Given the description of an element on the screen output the (x, y) to click on. 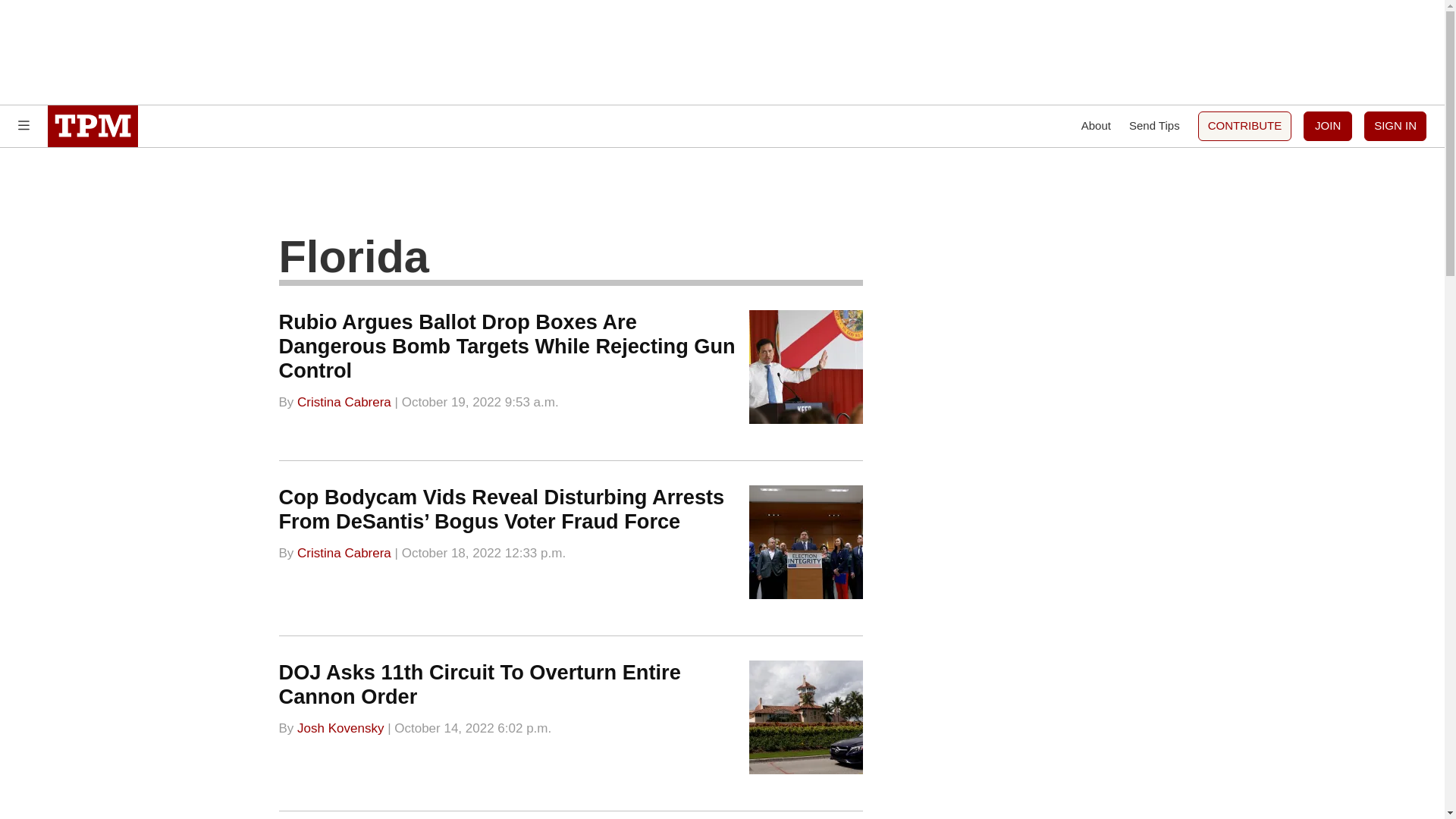
3rd party ad content (1062, 371)
Posts by Josh Kovensky (340, 727)
Cristina Cabrera (344, 553)
Posts by Cristina Cabrera (344, 553)
SIGN IN (1395, 125)
Cristina Cabrera (344, 400)
3rd party ad content (721, 52)
JOIN (1327, 125)
CONTRIBUTE (1245, 125)
DOJ Asks 11th Circuit To Overturn Entire Cannon Order (480, 683)
Send Tips (1154, 125)
Posts by Cristina Cabrera (344, 400)
Josh Kovensky (340, 727)
3rd party ad content (721, 196)
About (1095, 125)
